Given the description of an element on the screen output the (x, y) to click on. 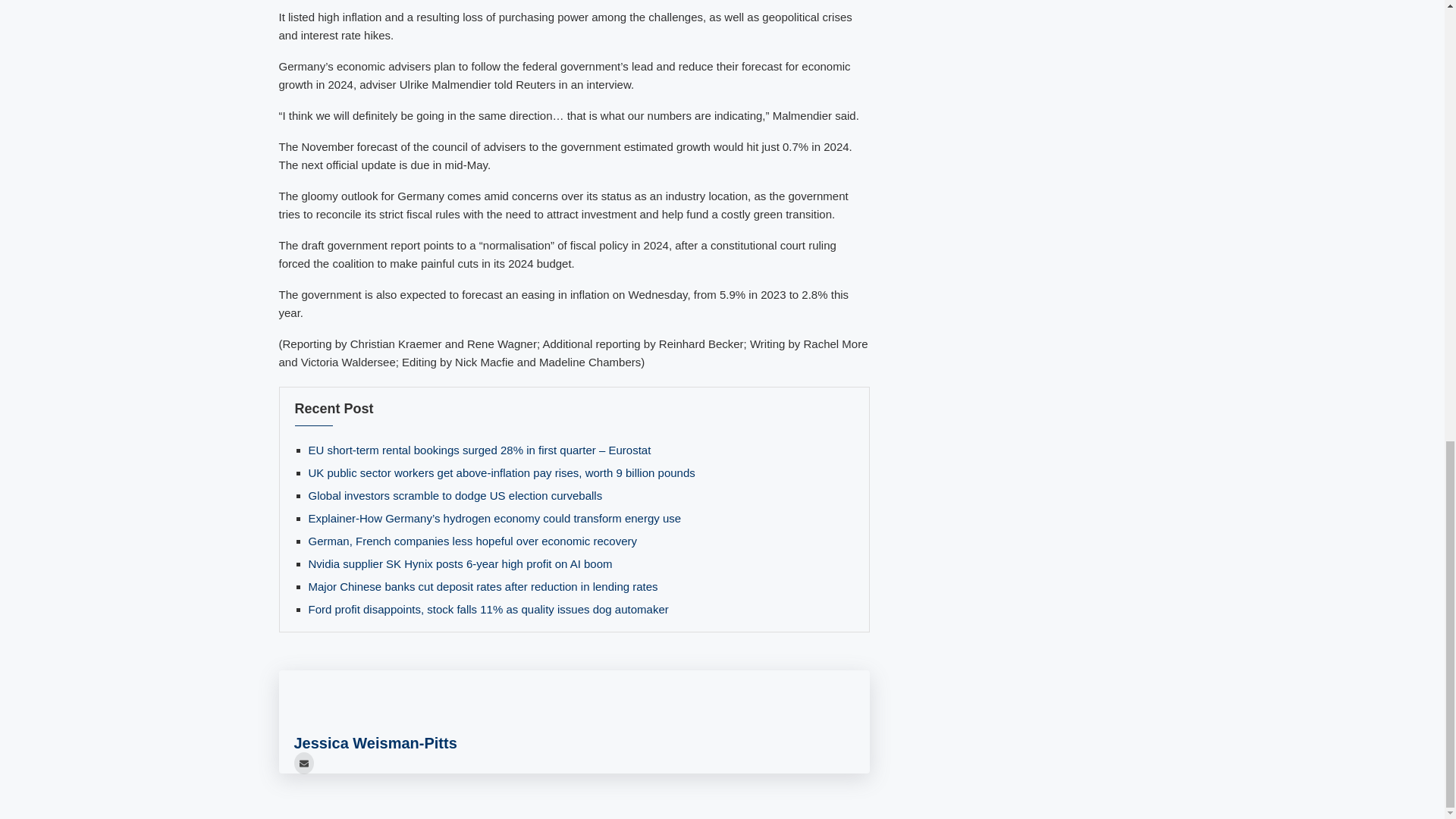
User email (304, 762)
German, French companies less hopeful over economic recovery (472, 540)
Global investors scramble to dodge US election curveballs (454, 495)
Jessica Weisman-Pitts (375, 742)
Nvidia supplier SK Hynix posts 6-year high profit on AI boom (459, 563)
